Given the description of an element on the screen output the (x, y) to click on. 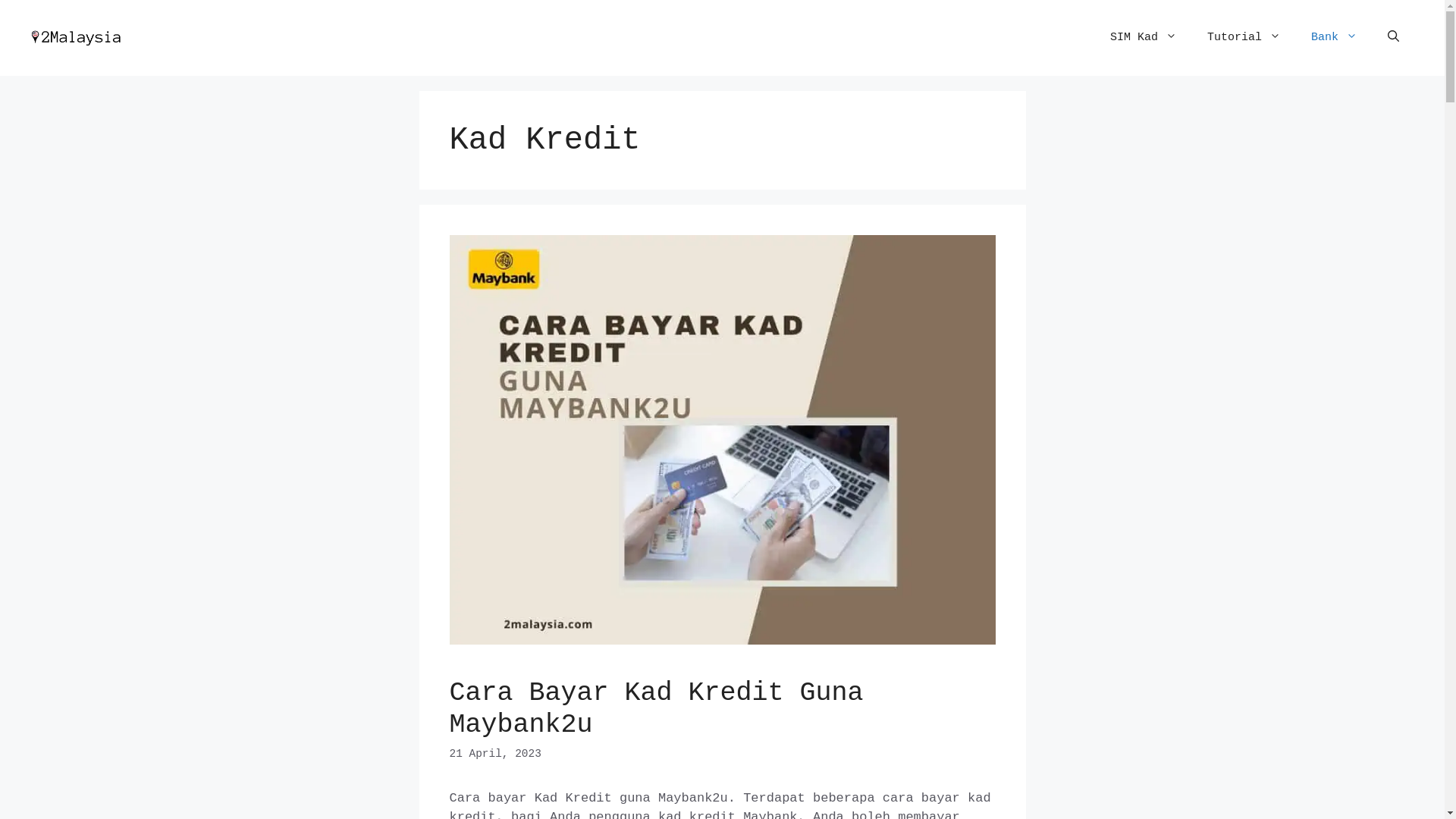
Cara Bayar Kad Kredit Guna Maybank2u Element type: text (655, 708)
Bank Element type: text (1333, 37)
Tutorial Element type: text (1243, 37)
SIM Kad Element type: text (1143, 37)
